Given the description of an element on the screen output the (x, y) to click on. 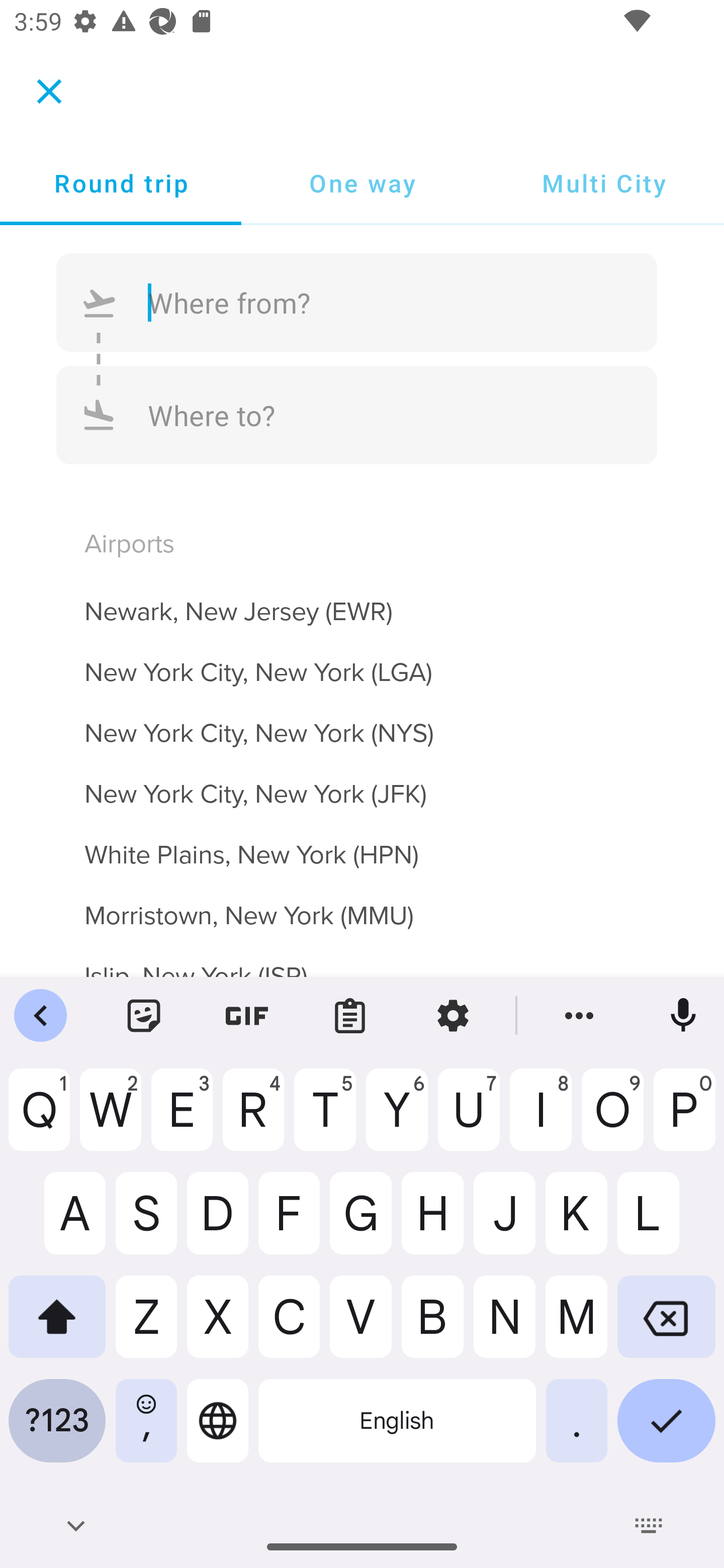
Cancel (49, 90)
One way (361, 183)
Multi City (603, 183)
Where from? (356, 302)
Where to? (356, 414)
Newark, New Jersey (EWR) (361, 599)
New York City, New York (LGA) (361, 660)
New York City, New York (NYS) (361, 721)
New York City, New York (JFK) (361, 782)
White Plains, New York (HPN) (361, 843)
Morristown, New York (MMU) (361, 903)
